Given the description of an element on the screen output the (x, y) to click on. 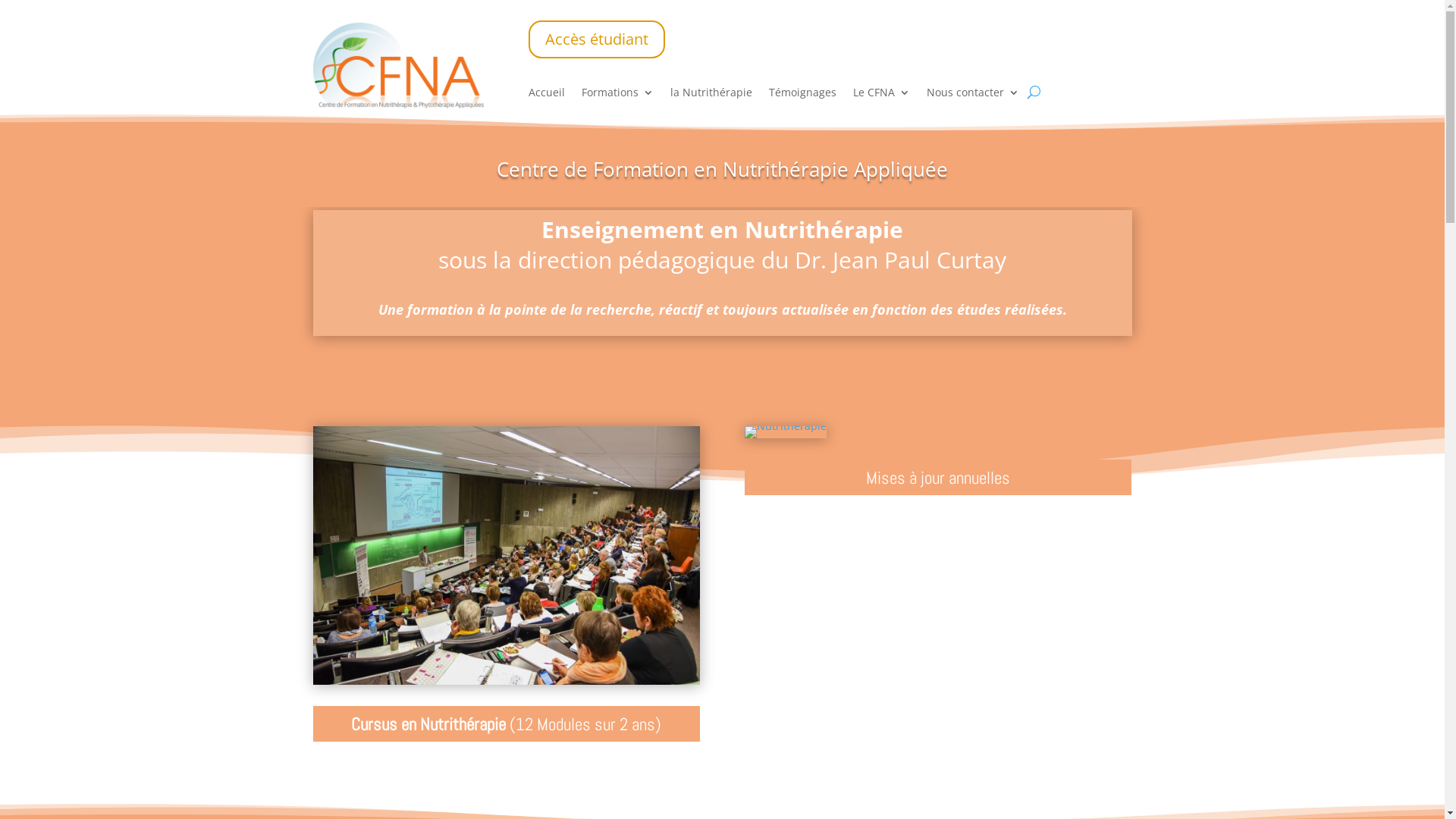
Le CFNA Element type: text (881, 95)
Formations Element type: text (617, 95)
Enseignement-complet-Nutritionnel copie_DEF Element type: hover (785, 432)
DSC_0445moi Element type: hover (505, 555)
Nous contacter Element type: text (972, 95)
logo_cfna Element type: hover (397, 66)
Accueil Element type: text (546, 95)
